Given the description of an element on the screen output the (x, y) to click on. 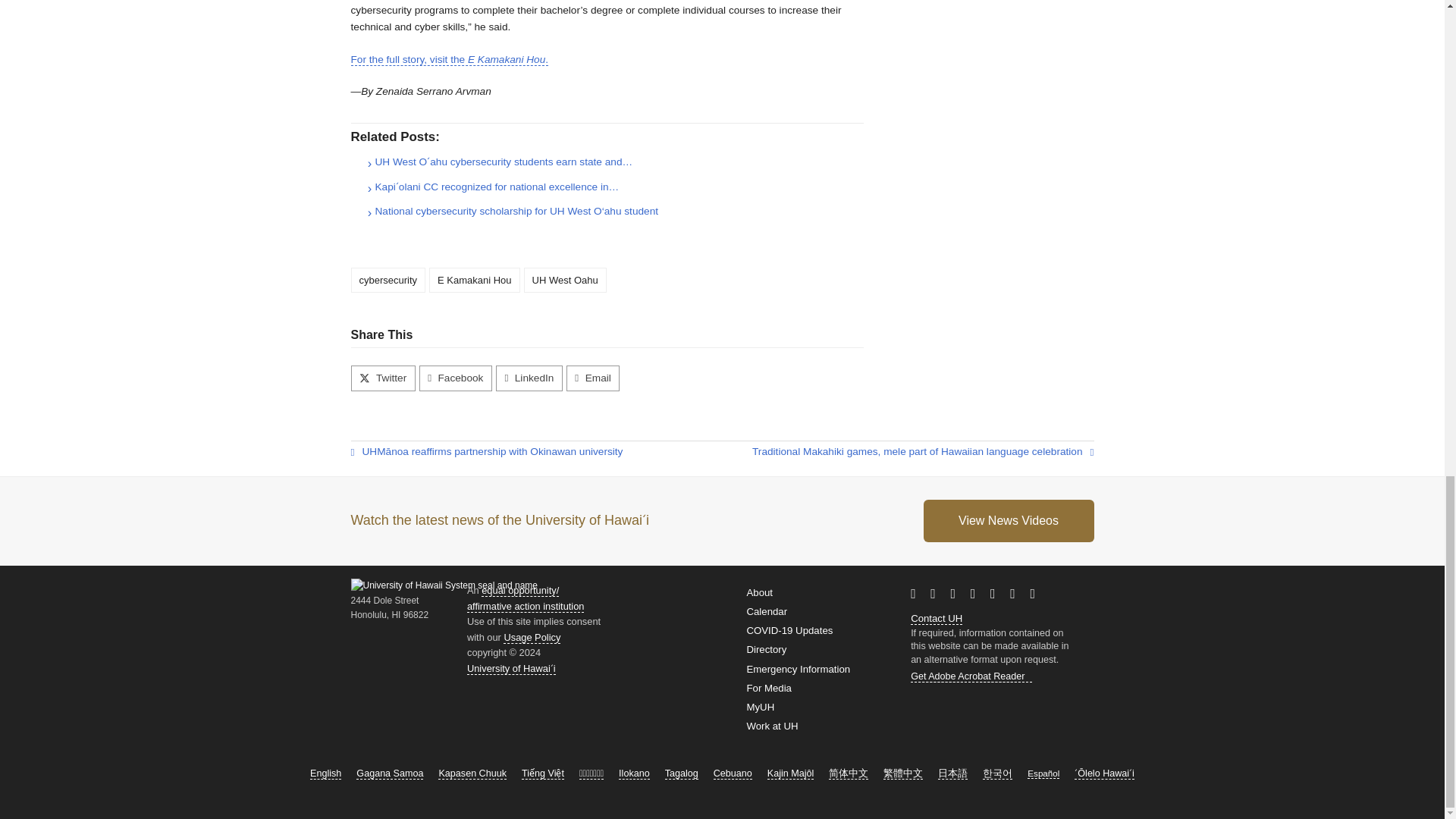
UH System home (511, 668)
University of Hawaii (954, 618)
For the full story, visit the E Kamakani Hou. (449, 60)
